Given the description of an element on the screen output the (x, y) to click on. 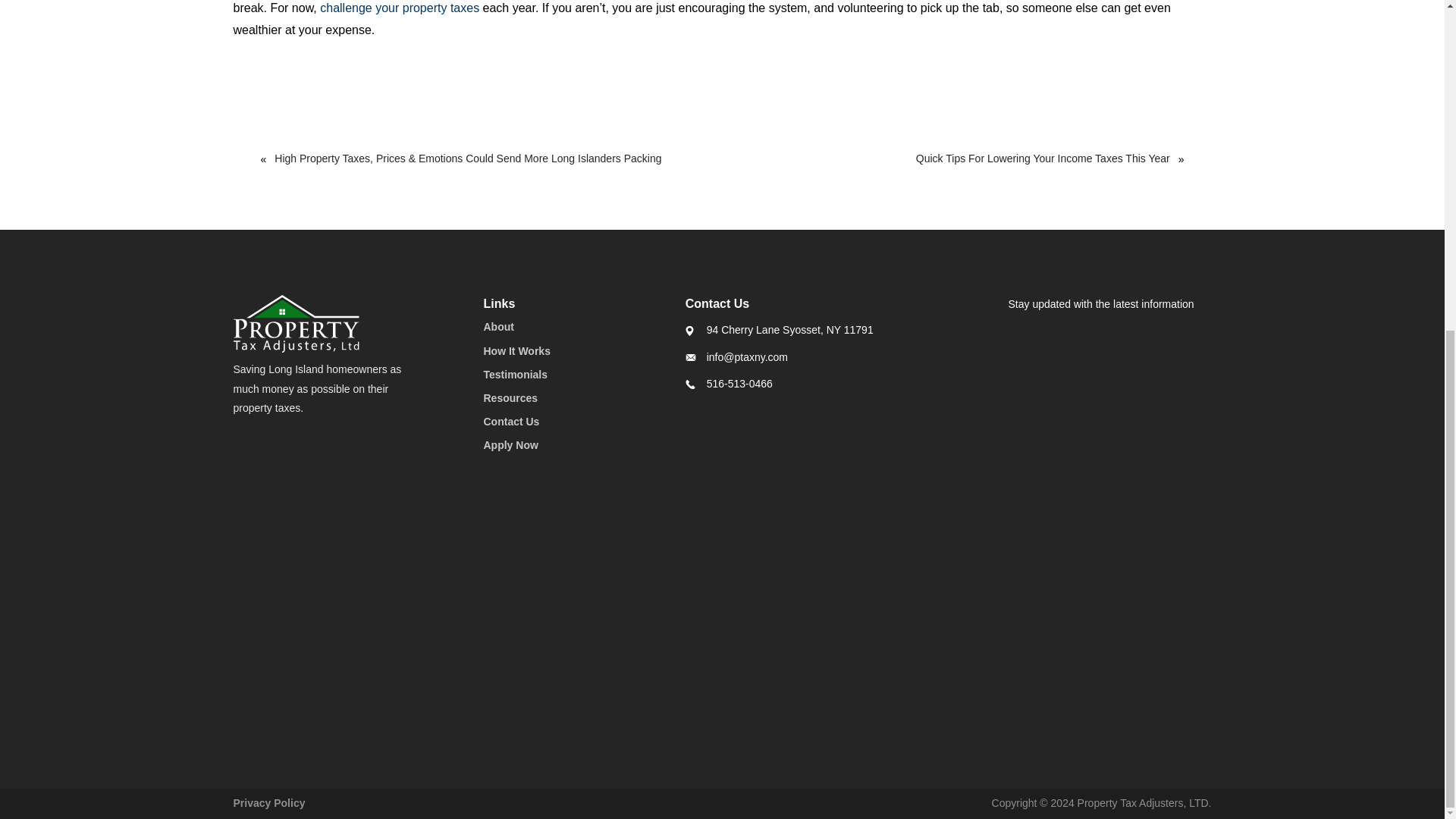
About (498, 326)
Contact Us (511, 421)
Resources (510, 398)
Quick Tips For Lowering Your Income Taxes This Year (1033, 158)
How It Works (516, 349)
Testimonials (515, 374)
516-513-0466 (739, 383)
Apply Now (510, 444)
challenge your property taxes (398, 7)
Privacy Policy (268, 802)
